Given the description of an element on the screen output the (x, y) to click on. 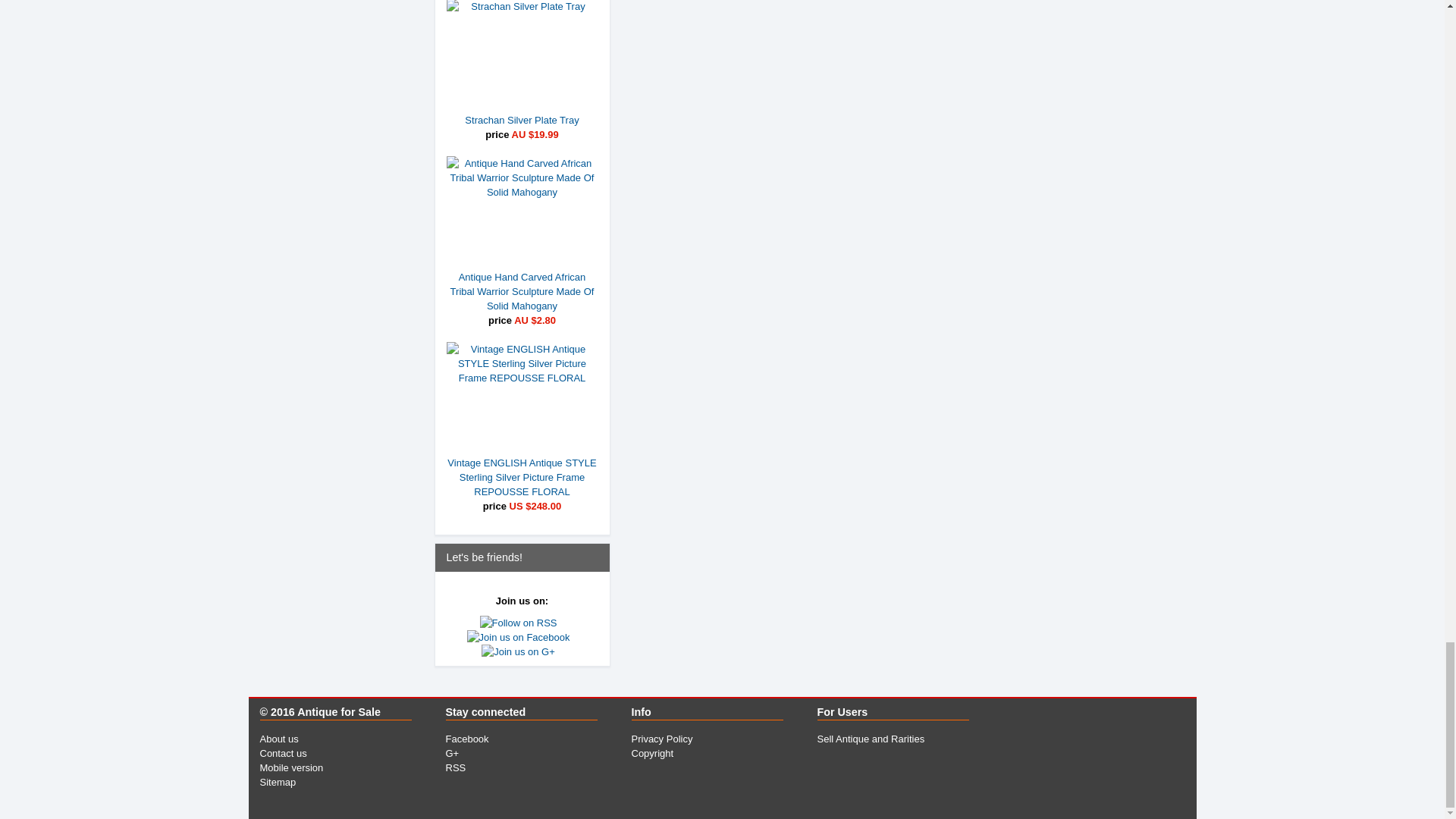
Follow on Facebook (467, 738)
Join us on Facebook (522, 636)
Follow on RSS (521, 622)
Follow on RSS (455, 767)
